Given the description of an element on the screen output the (x, y) to click on. 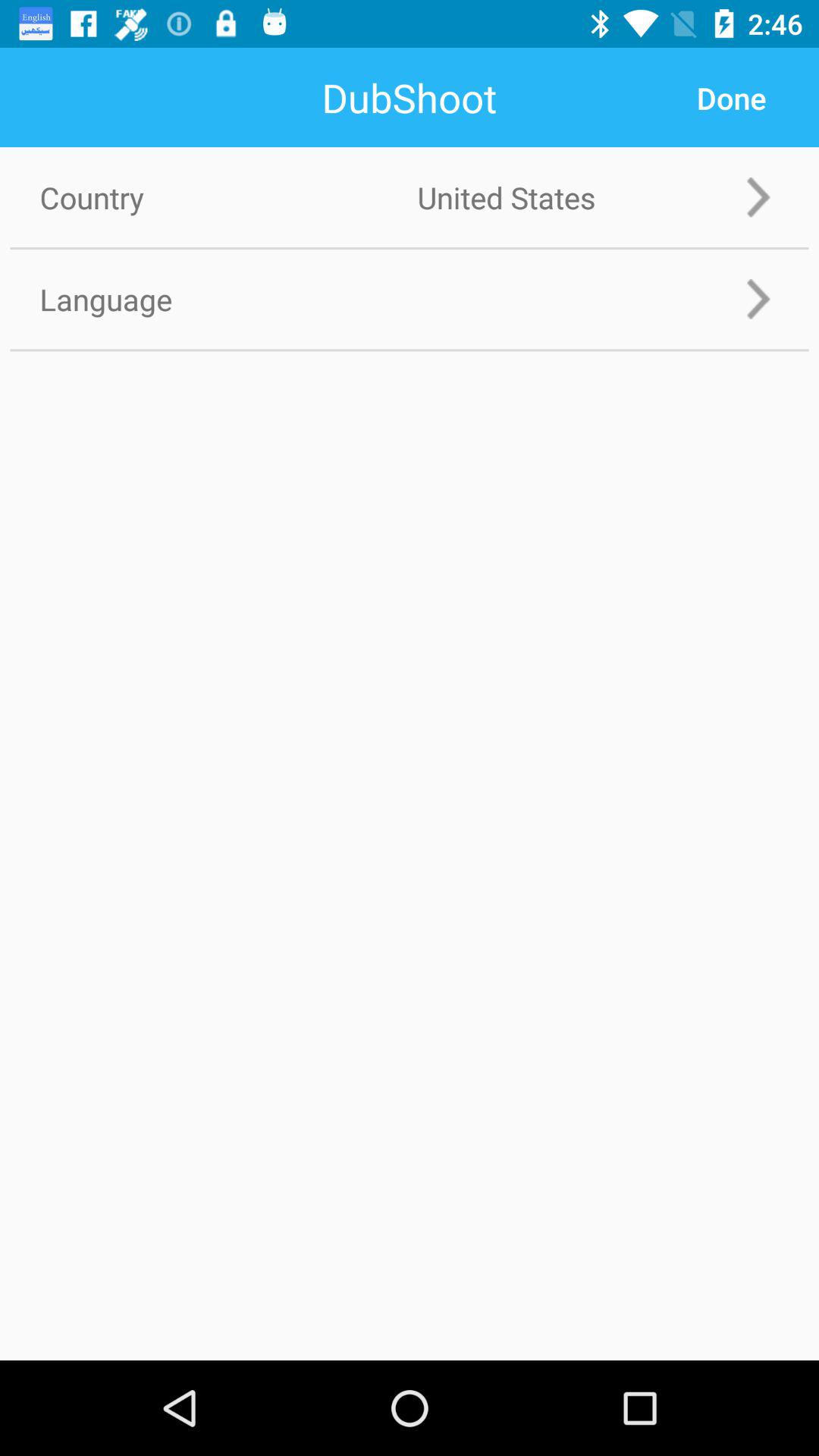
turn off app to the right of country icon (731, 97)
